Given the description of an element on the screen output the (x, y) to click on. 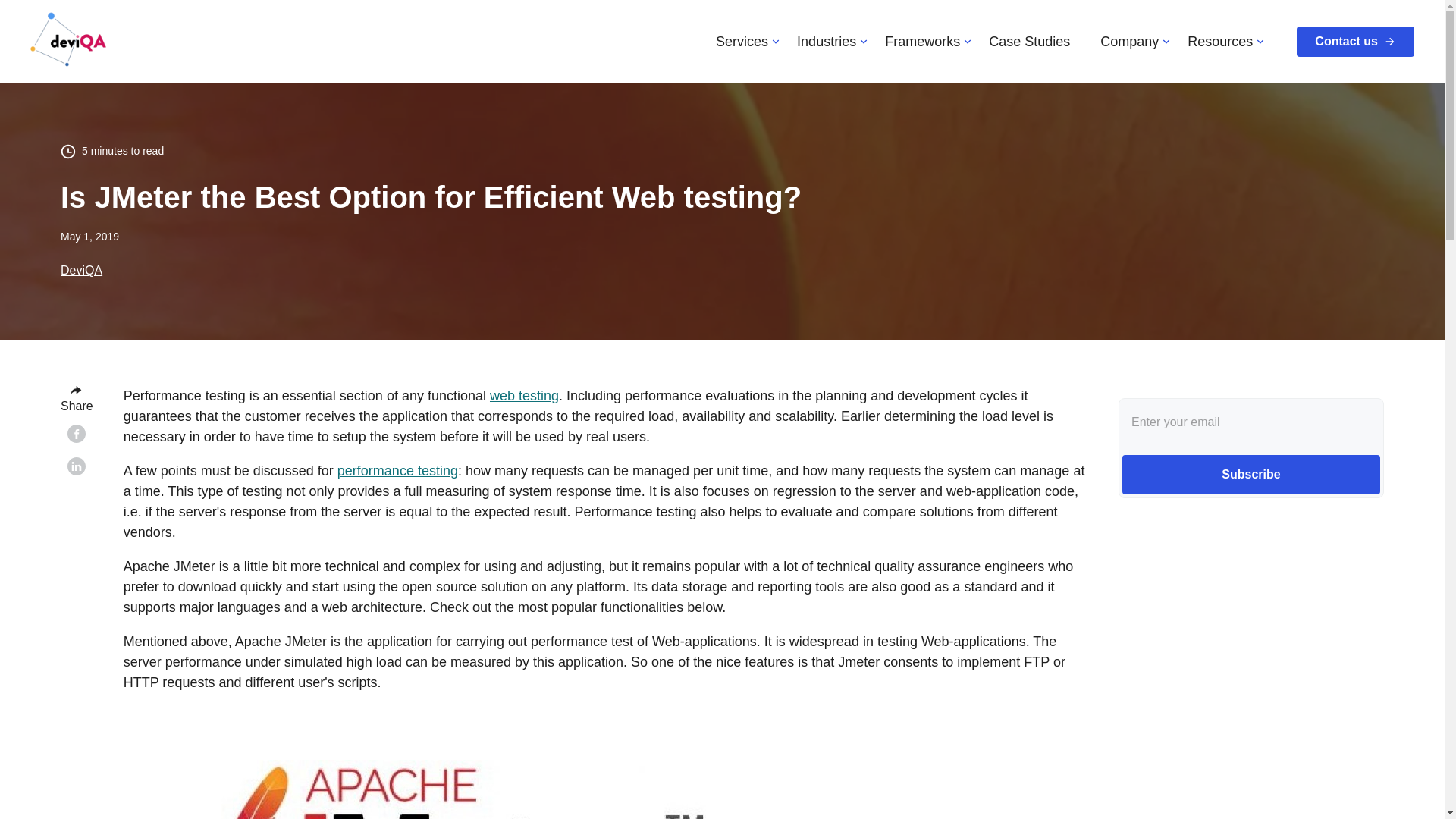
Services (741, 41)
Industries (825, 41)
